Given the description of an element on the screen output the (x, y) to click on. 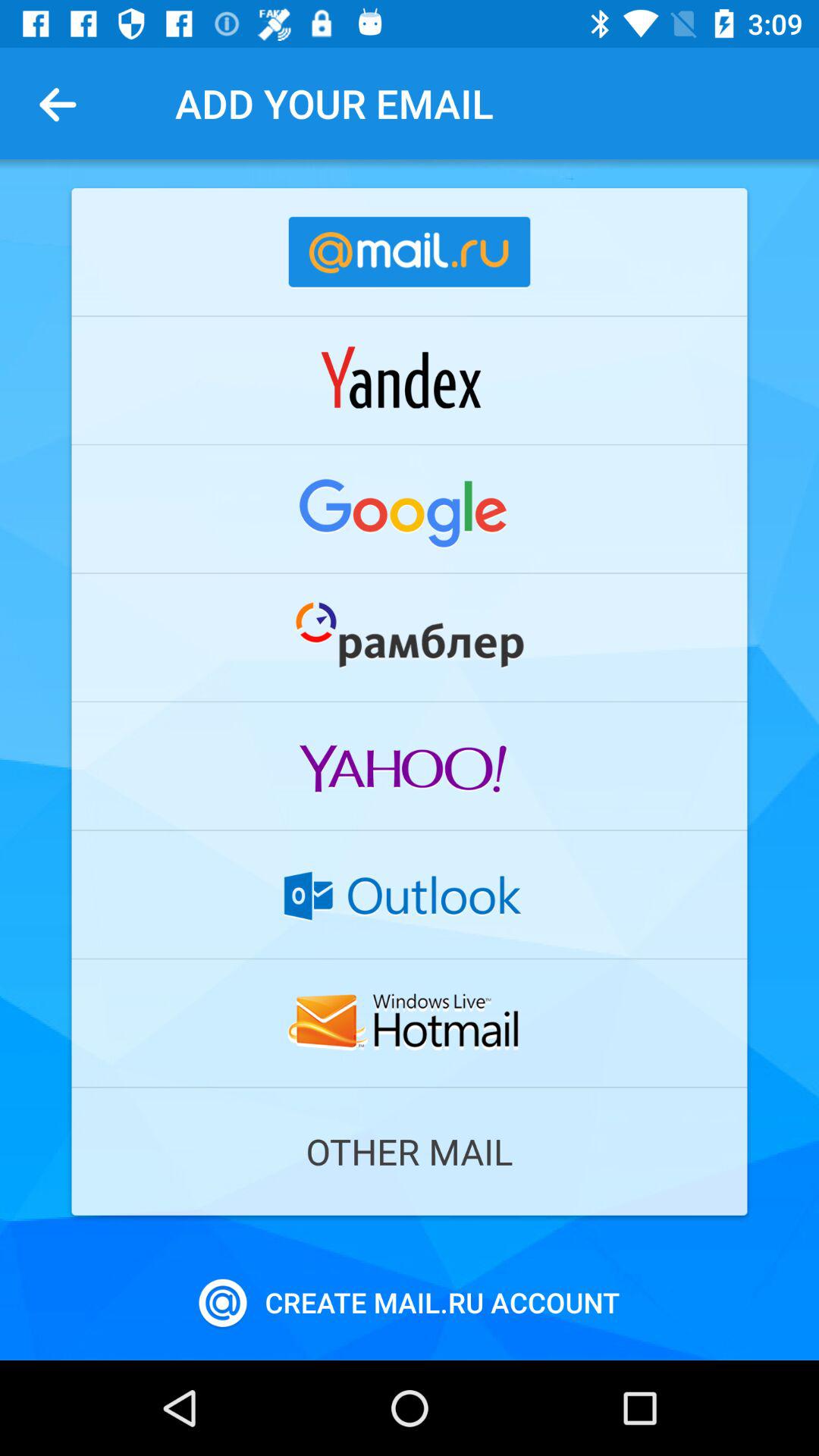
choose email option (409, 894)
